Given the description of an element on the screen output the (x, y) to click on. 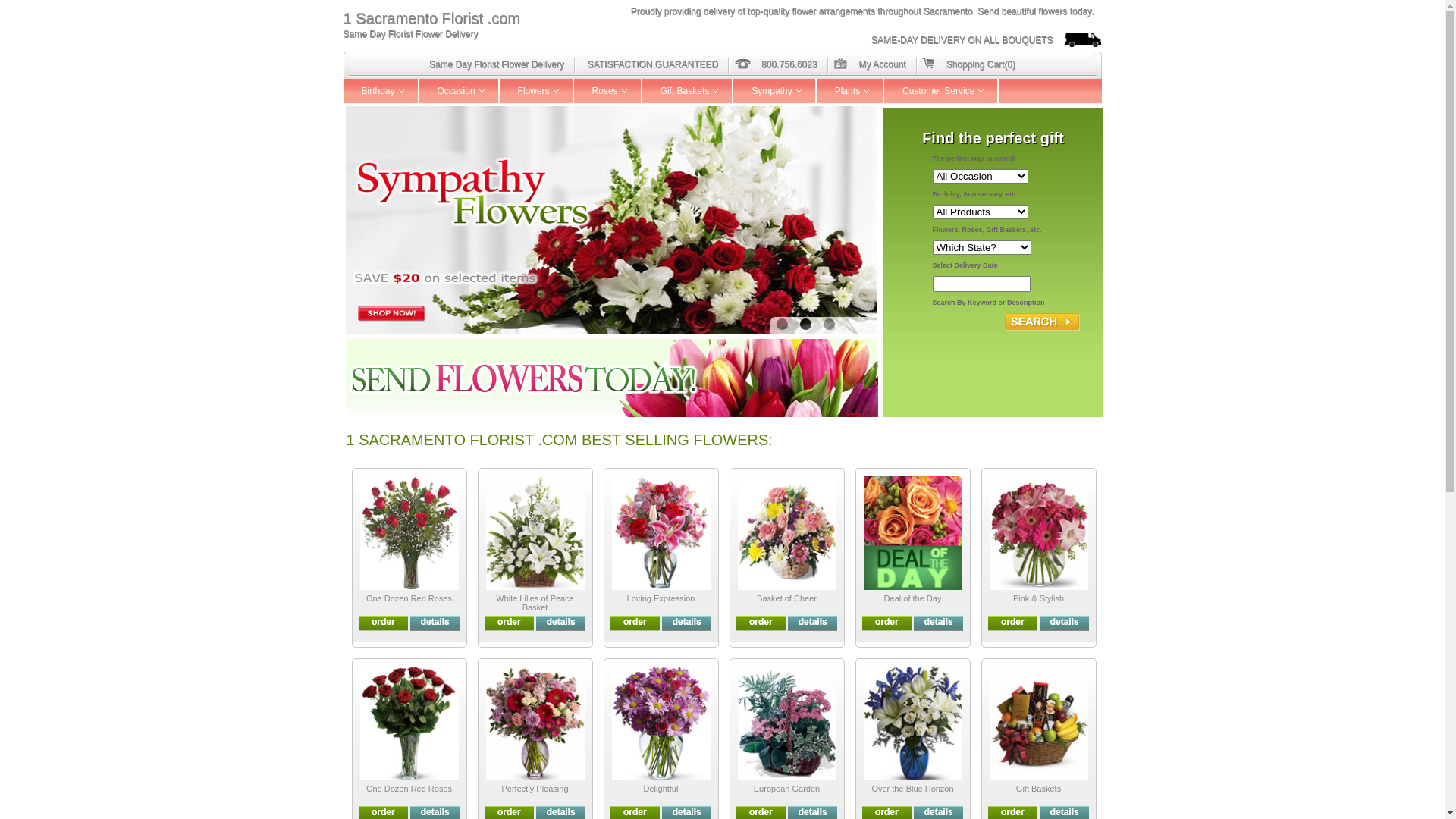
European Garden Element type: text (786, 788)
Over the Blue Horizon Element type: text (912, 788)
Perfectly Pleasing Element type: text (534, 788)
details Element type: text (560, 811)
details Element type: text (938, 621)
details Element type: text (560, 621)
details Element type: text (686, 621)
Basket of Cheer Element type: text (786, 597)
One Dozen Red Roses Element type: text (408, 788)
details Element type: text (938, 811)
details Element type: text (434, 621)
Gift Baskets Element type: text (1038, 788)
Sympathy Element type: text (774, 90)
Search Element type: text (1041, 322)
Delightful Element type: text (660, 788)
details Element type: text (812, 621)
Birthday Element type: text (380, 90)
details Element type: text (434, 811)
order Element type: text (382, 621)
details Element type: text (812, 811)
Occasion Element type: text (459, 90)
order Element type: text (508, 621)
details Element type: text (1063, 621)
Gift Baskets Element type: text (688, 90)
order Element type: text (886, 811)
Roses Element type: text (608, 90)
order Element type: text (886, 621)
order Element type: text (634, 811)
Plants Element type: text (850, 90)
Flowers Element type: text (536, 90)
order Element type: text (760, 621)
White Lilies of Peace Basket Element type: text (534, 602)
Deal of the Day Element type: text (912, 597)
order Element type: text (1012, 811)
Pink & Stylish Element type: text (1038, 597)
details Element type: text (1063, 811)
One Dozen Red Roses Element type: text (408, 597)
details Element type: text (686, 811)
order Element type: text (382, 811)
Customer Service Element type: text (941, 90)
order Element type: text (760, 811)
order Element type: text (508, 811)
Loving Expression Element type: text (661, 597)
order Element type: text (1012, 621)
order Element type: text (634, 621)
